Given the description of an element on the screen output the (x, y) to click on. 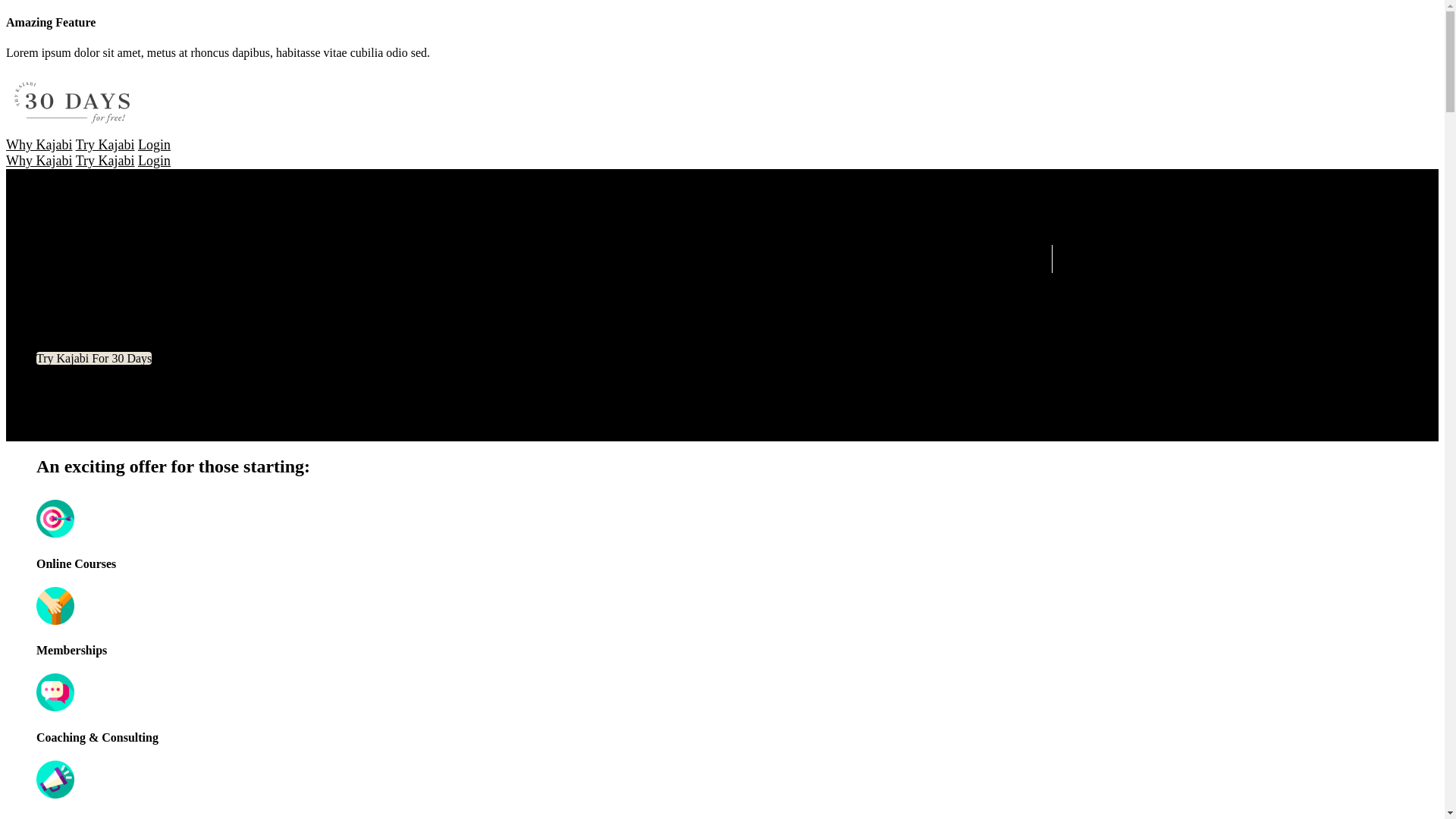
Try Kajabi Element type: text (104, 144)
Why Kajabi Element type: text (39, 144)
Try Kajabi For 30 Days Element type: text (93, 357)
Why Kajabi Element type: text (39, 160)
Login Element type: text (154, 144)
Try Kajabi Element type: text (104, 160)
Login Element type: text (154, 160)
